Given the description of an element on the screen output the (x, y) to click on. 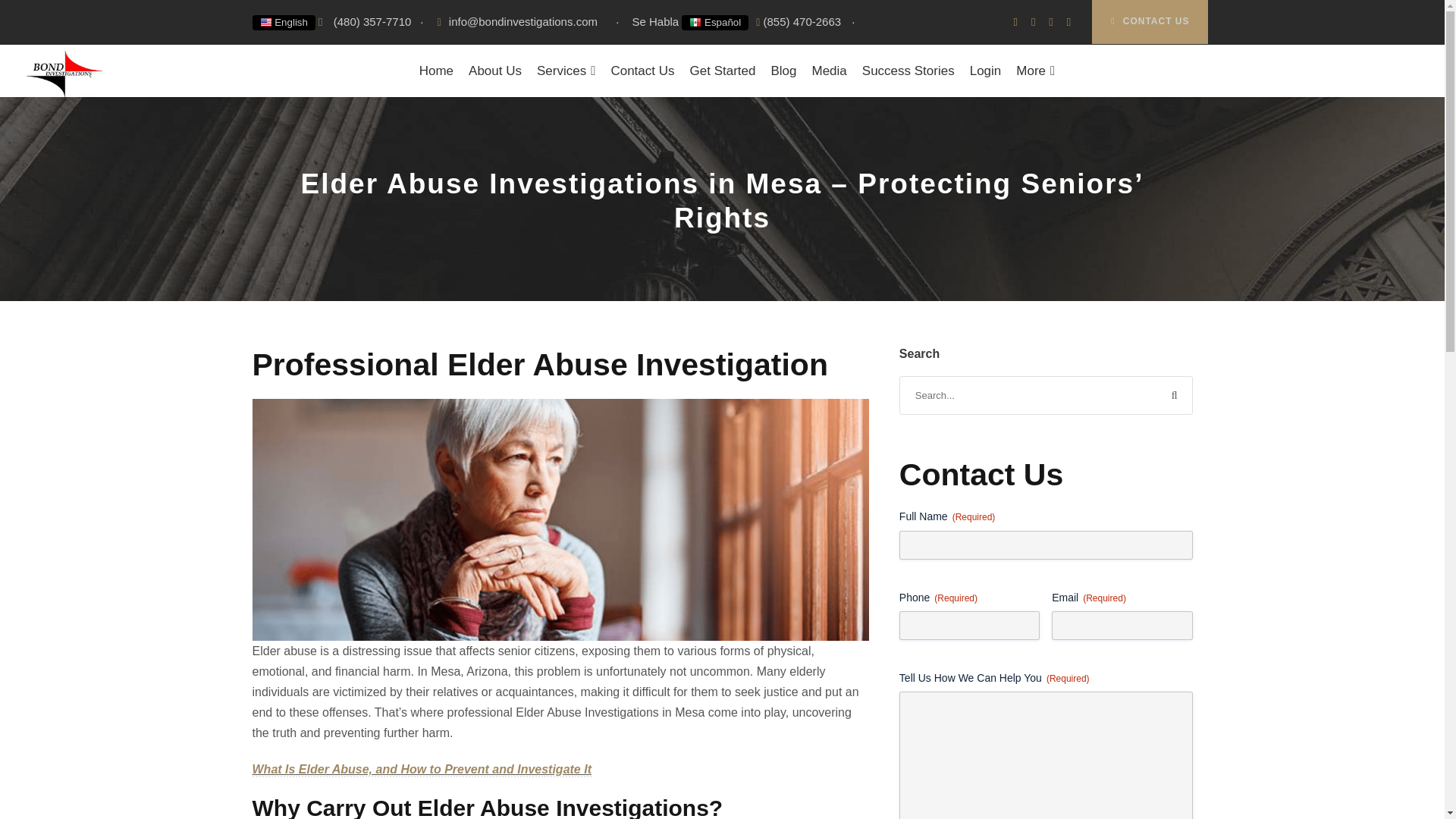
Logo-small (63, 69)
